Given the description of an element on the screen output the (x, y) to click on. 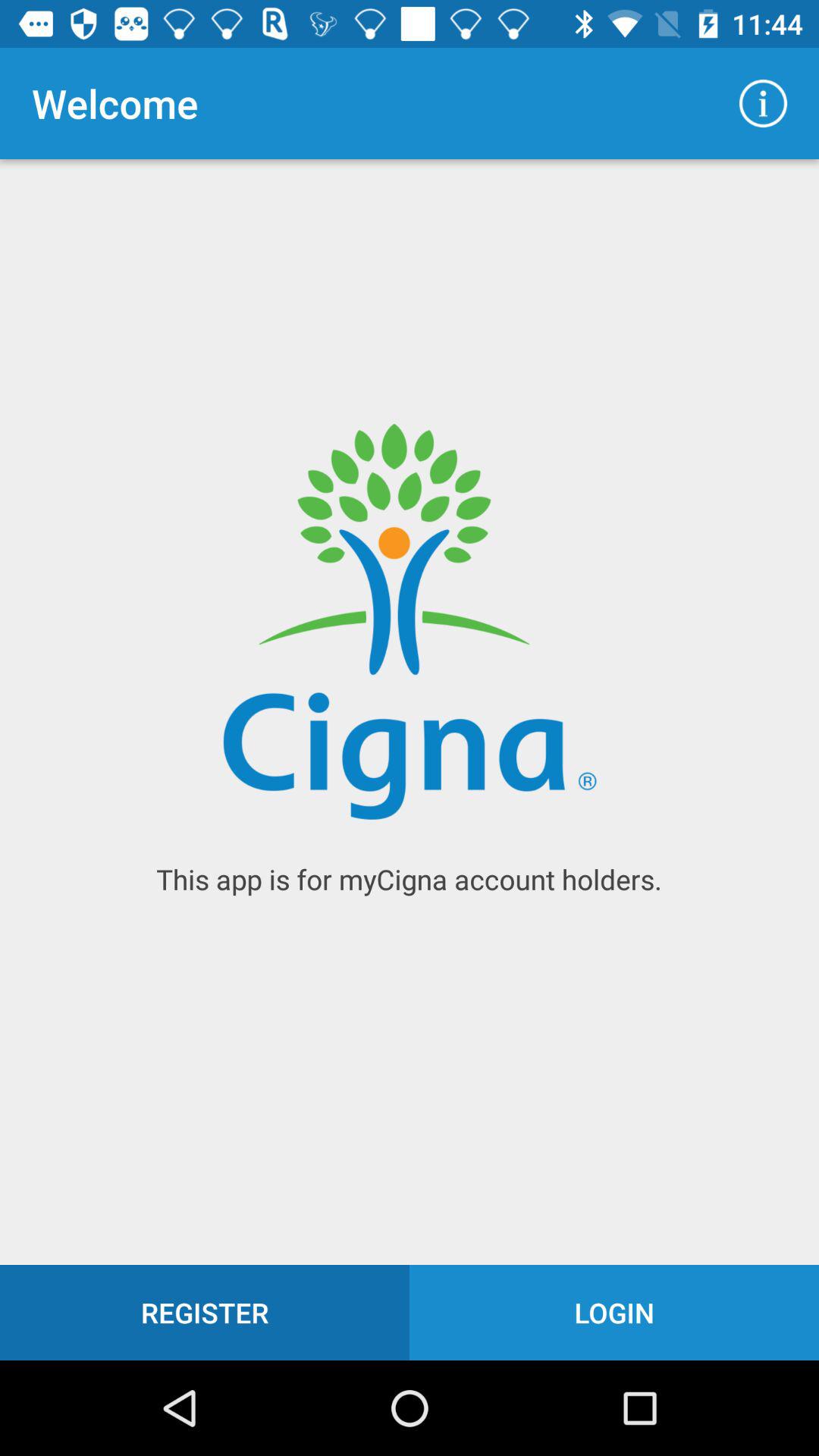
turn off icon below the this app is icon (614, 1312)
